Given the description of an element on the screen output the (x, y) to click on. 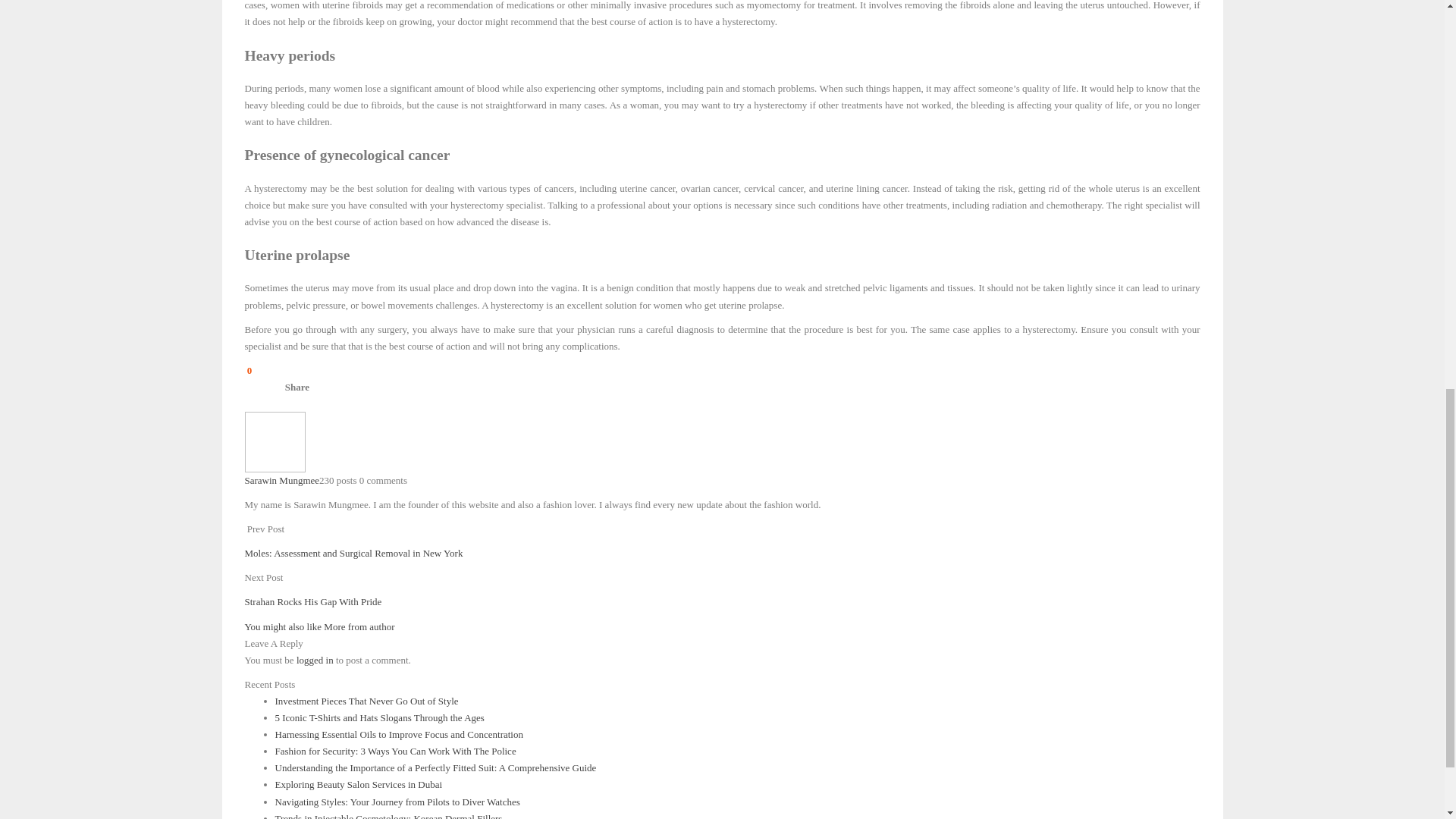
More from author (358, 626)
You might also like (283, 626)
Browse Author Articles (274, 440)
Moles: Assessment and Surgical Removal in New York (353, 552)
Sarawin Mungmee (281, 480)
Strahan Rocks His Gap With Pride (312, 601)
